Given the description of an element on the screen output the (x, y) to click on. 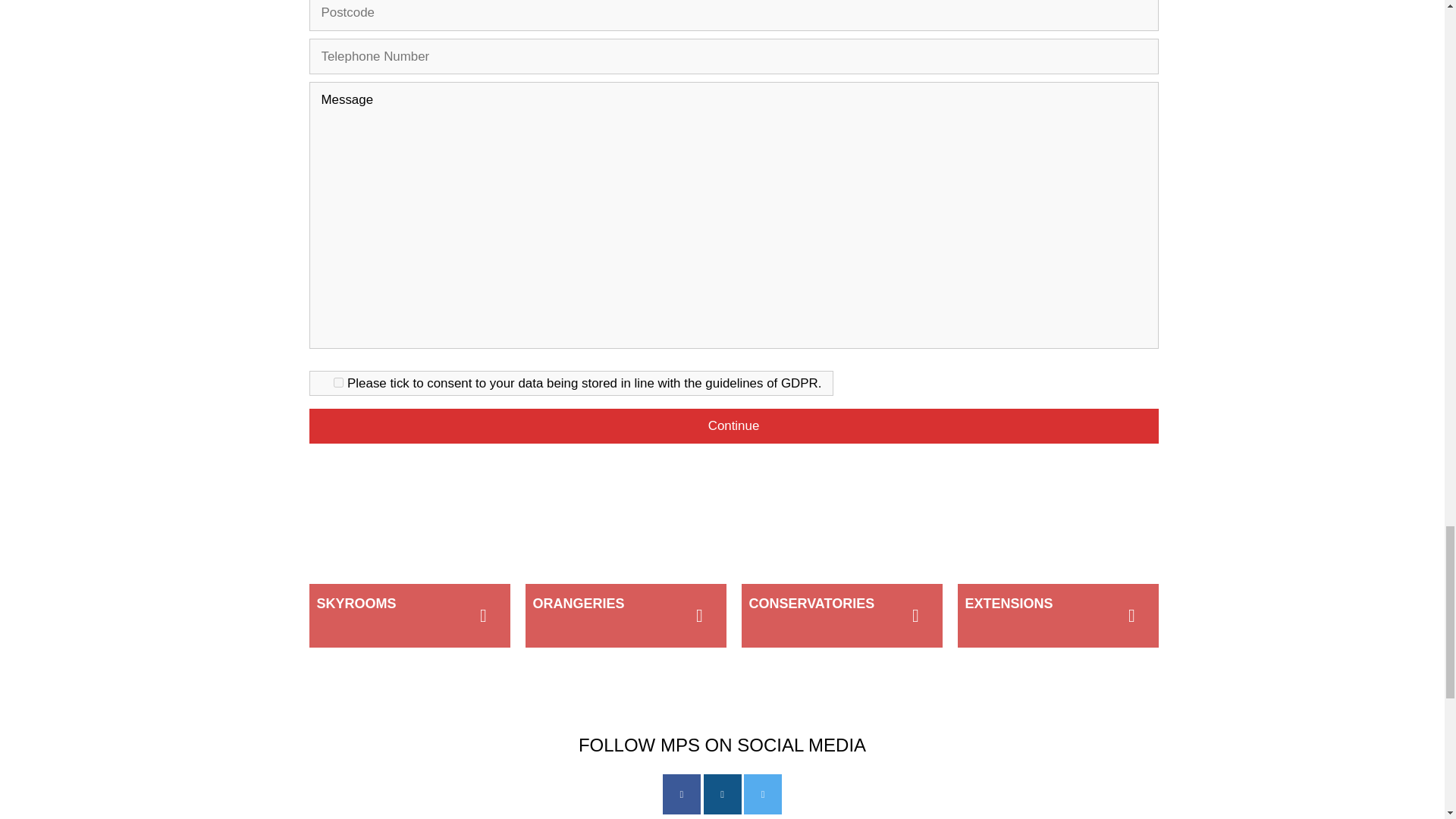
Continue (733, 425)
